Given the description of an element on the screen output the (x, y) to click on. 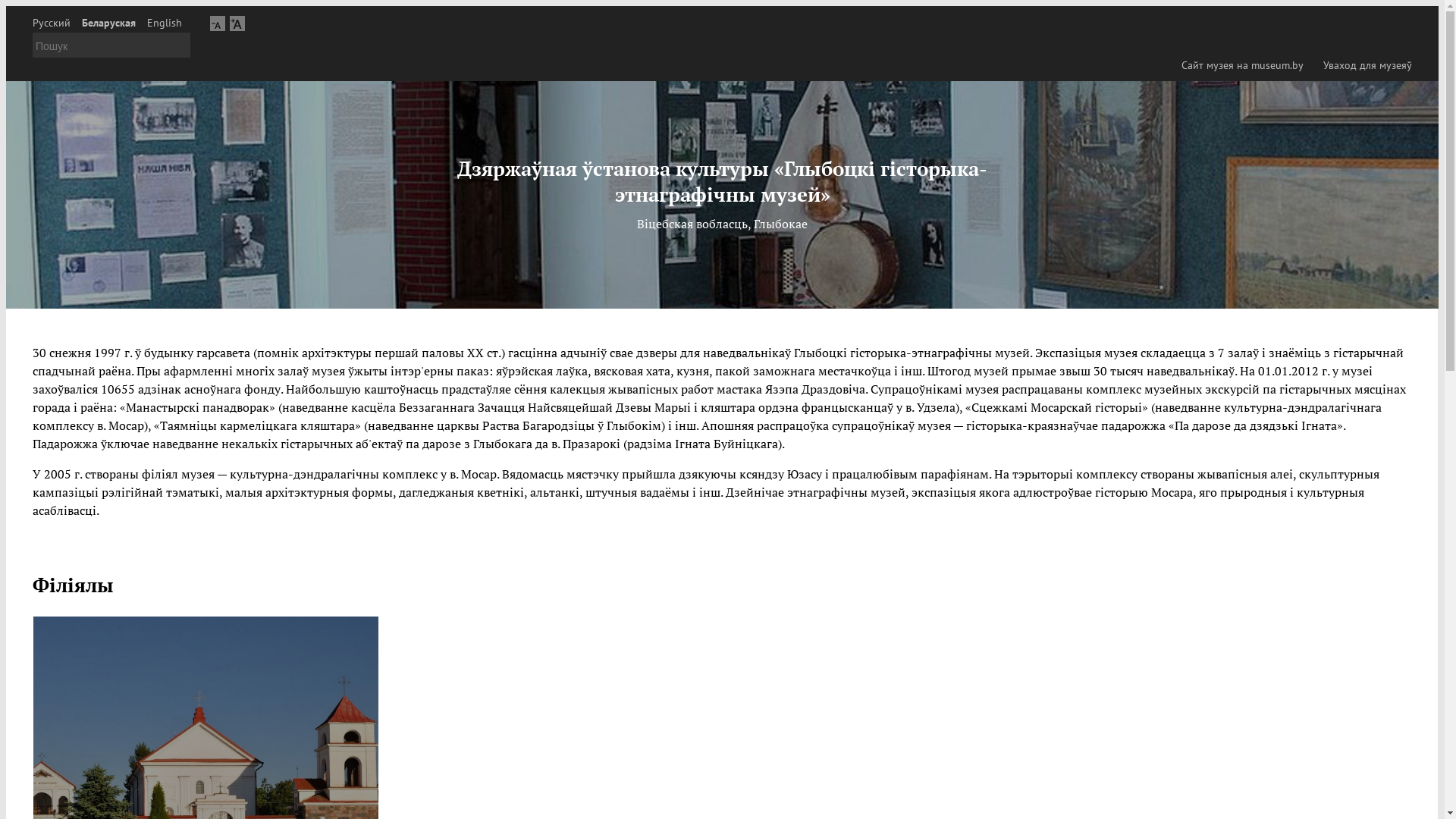
A Element type: text (217, 22)
A Element type: text (236, 22)
English Element type: text (164, 23)
